Given the description of an element on the screen output the (x, y) to click on. 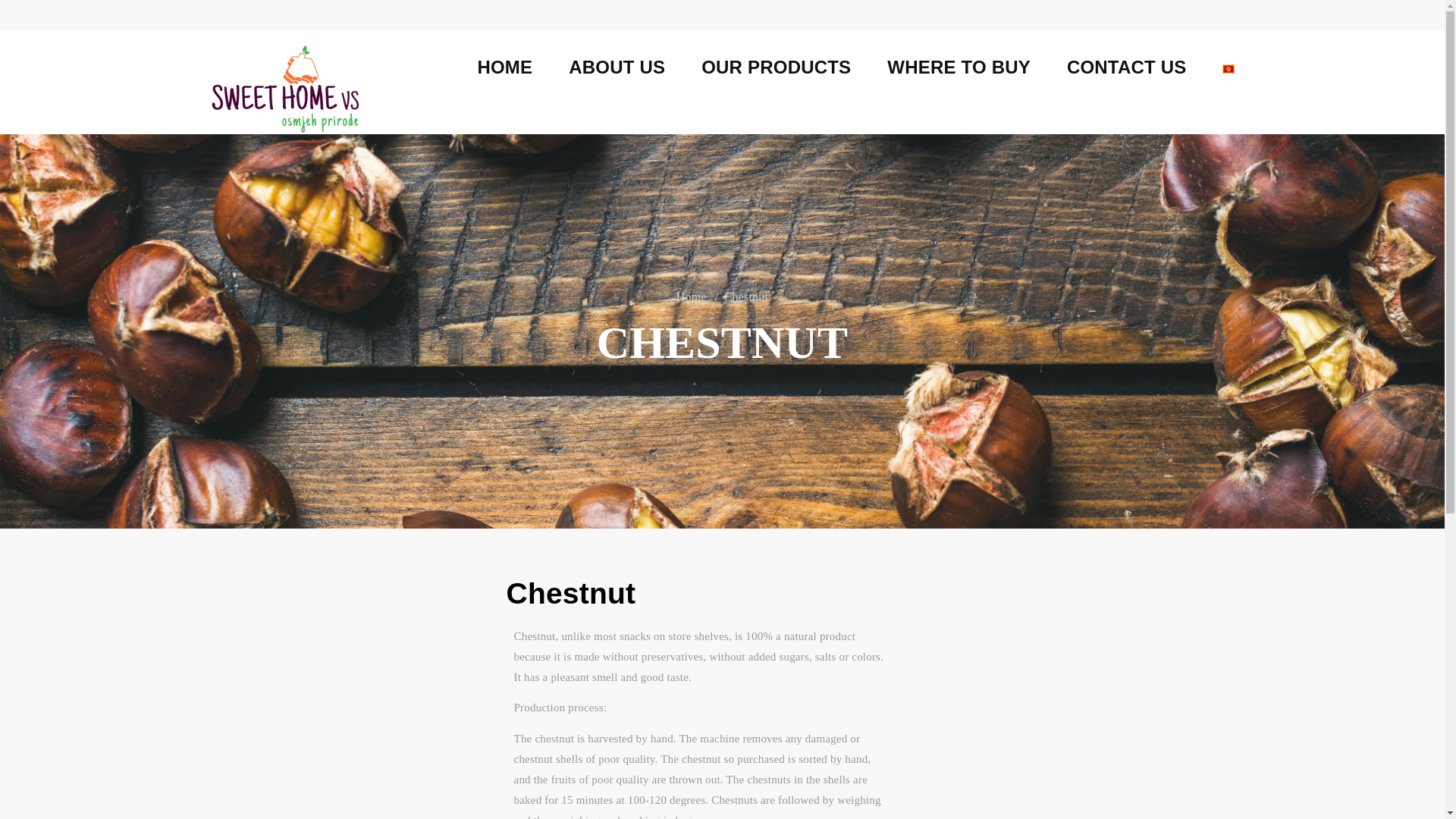
OUR PRODUCTS (775, 66)
CONTACT US (1126, 66)
Home (691, 295)
Home (504, 66)
WHERE TO BUY (958, 66)
HOME (504, 66)
ABOUT US (617, 66)
